Given the description of an element on the screen output the (x, y) to click on. 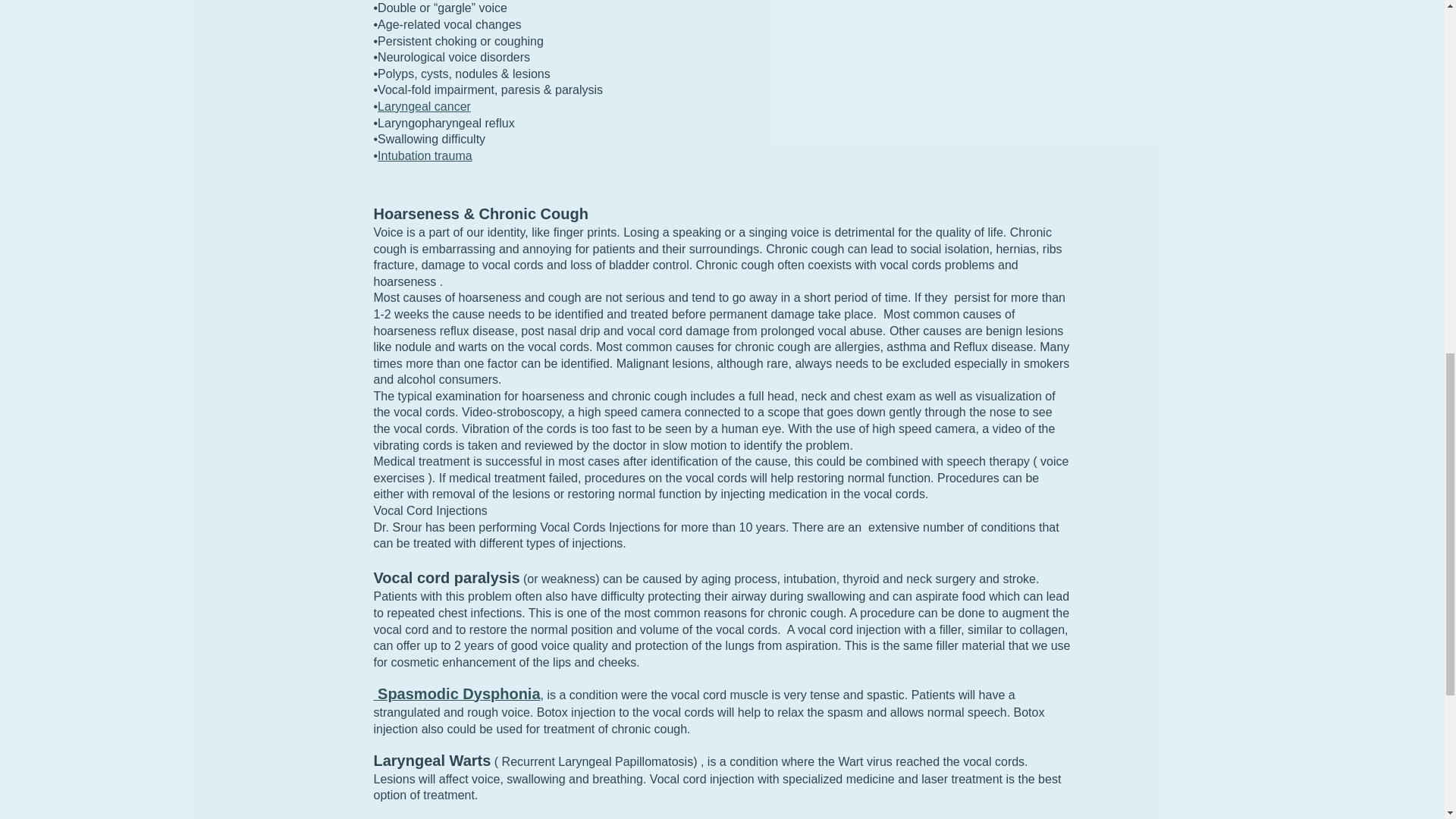
Laryngeal cancer (423, 106)
Intubation trauma (424, 155)
 Spasmodic Dysphonia (456, 694)
